Given the description of an element on the screen output the (x, y) to click on. 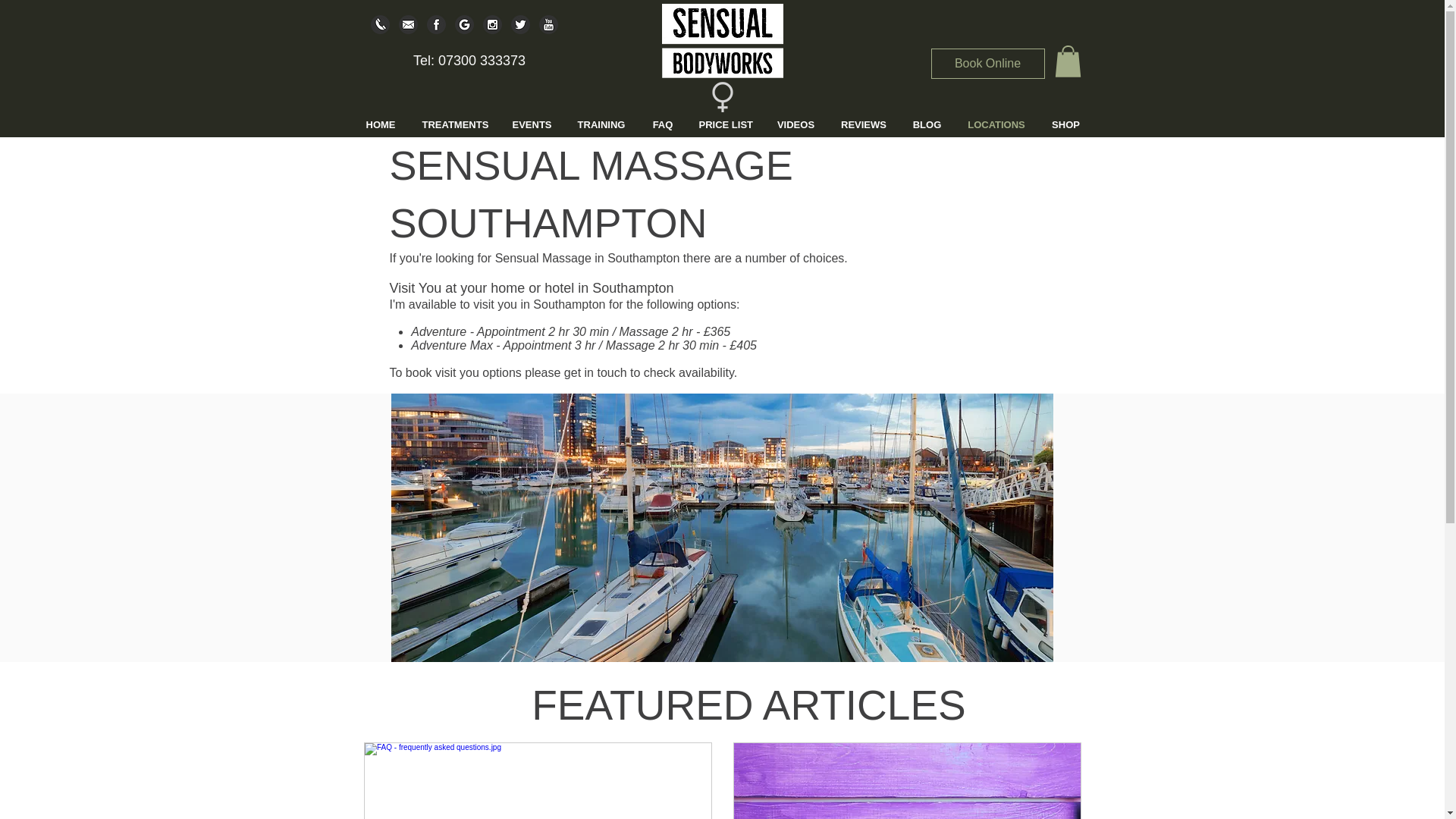
REVIEWS (839, 124)
TREATMENTS (448, 124)
VIDEOS (774, 124)
TRAINING (589, 124)
FAQ (646, 124)
Book Online (988, 63)
HOME (376, 124)
PRICE LIST (706, 124)
